Given the description of an element on the screen output the (x, y) to click on. 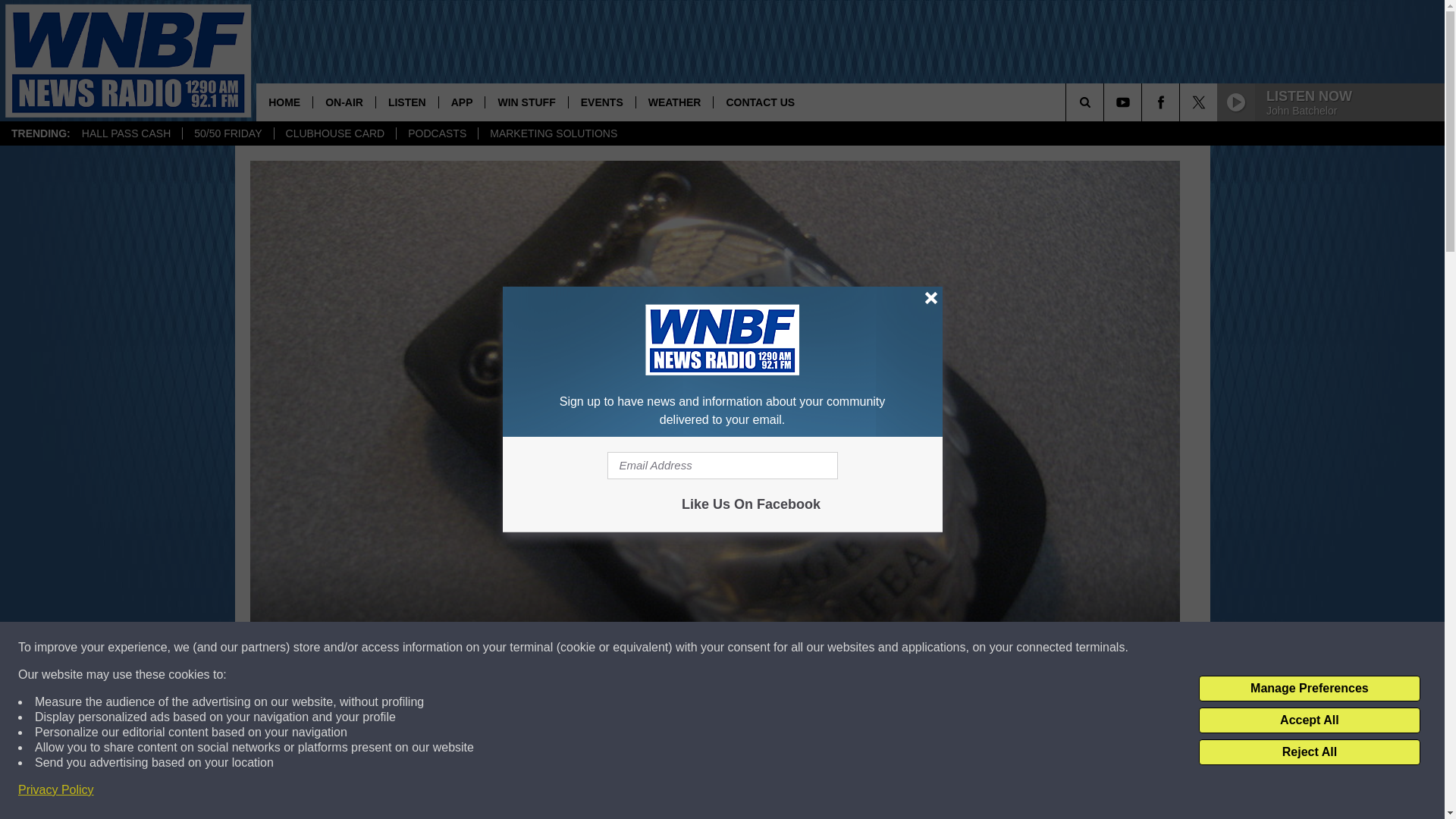
Share on Facebook (517, 791)
WEATHER (673, 102)
HALL PASS CASH (126, 133)
Share on Twitter (912, 791)
Privacy Policy (55, 789)
SEARCH (1106, 102)
WIN STUFF (525, 102)
LISTEN (406, 102)
Reject All (1309, 751)
EVENTS (600, 102)
HOME (284, 102)
MARKETING SOLUTIONS (552, 133)
CLUBHOUSE CARD (334, 133)
Manage Preferences (1309, 688)
SEARCH (1106, 102)
